Given the description of an element on the screen output the (x, y) to click on. 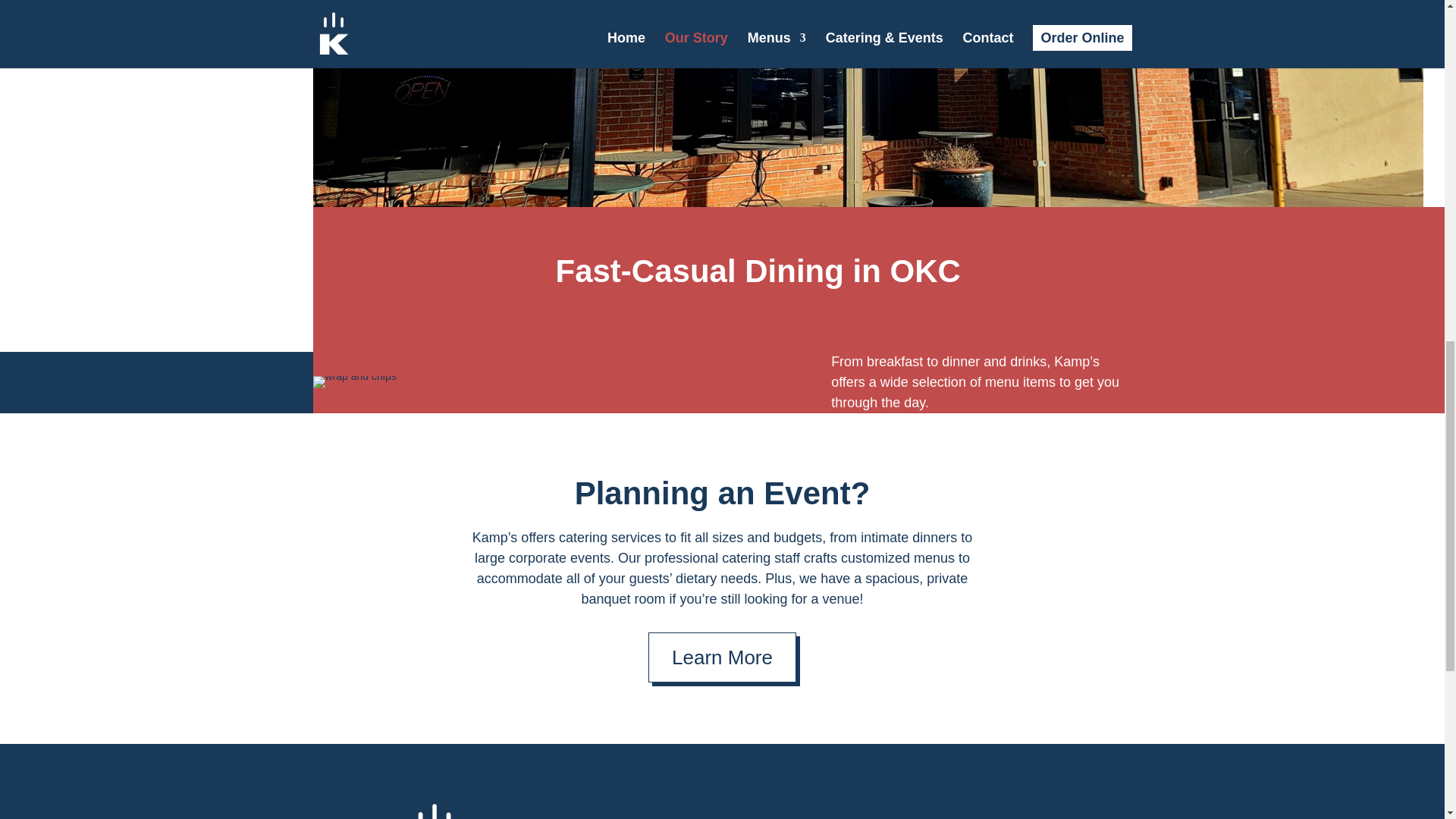
Learn More (721, 657)
Kamp's 1910 Cafe (354, 381)
Kamp's 1910 Cafe (434, 810)
